Given the description of an element on the screen output the (x, y) to click on. 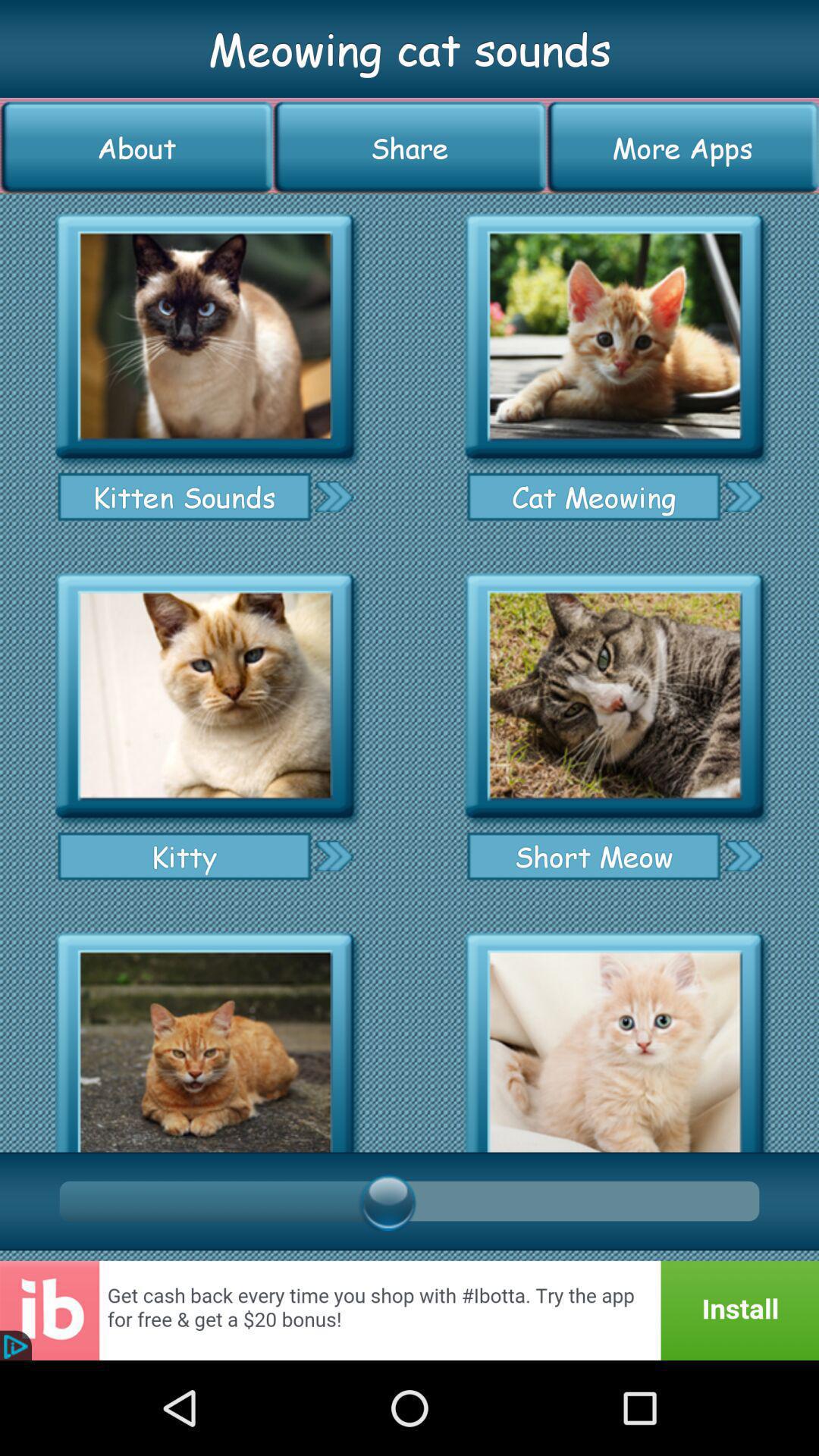
go to next option (743, 855)
